Given the description of an element on the screen output the (x, y) to click on. 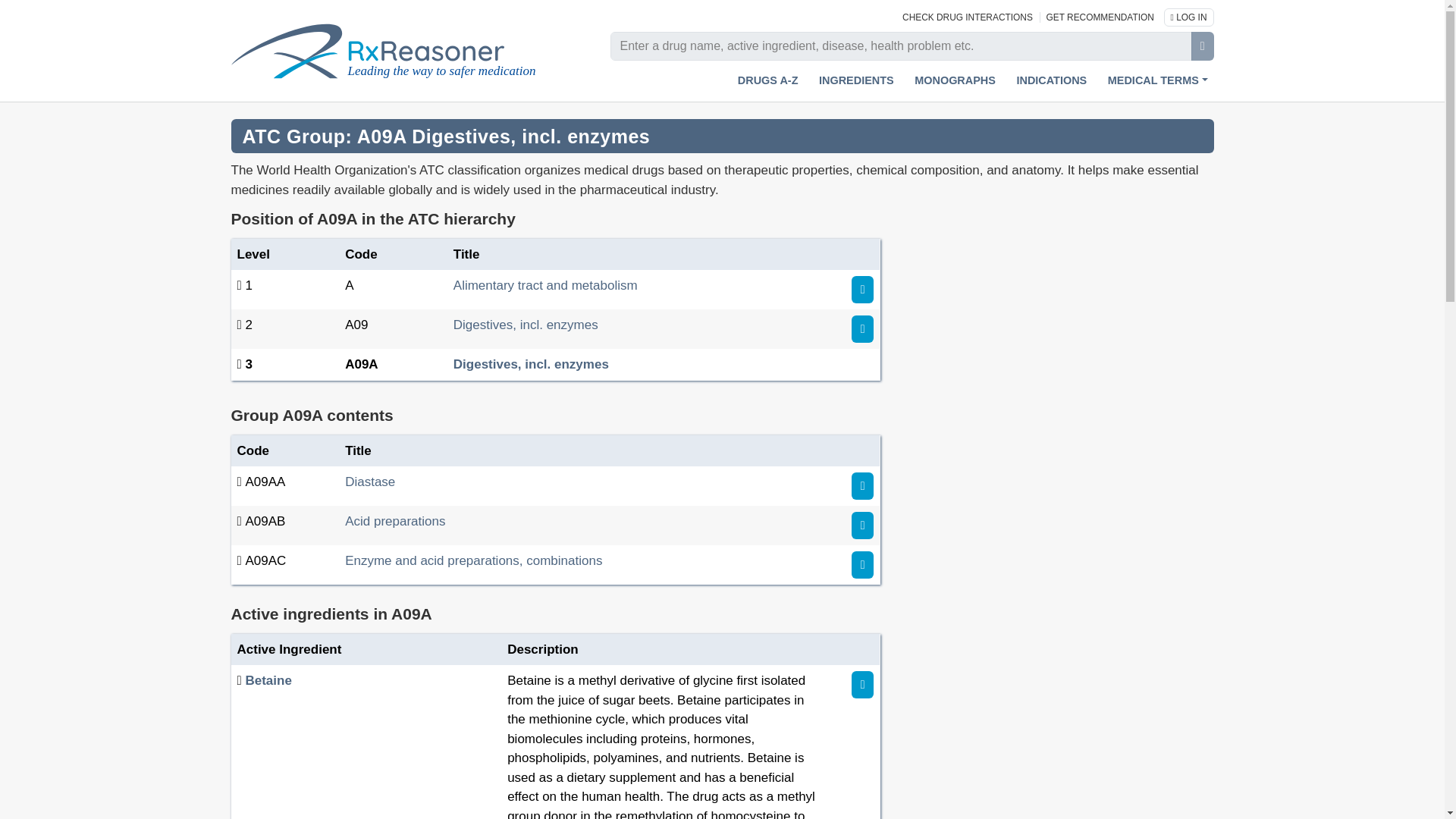
Acid preparations (395, 521)
GET RECOMMENDATION (1099, 17)
Enzyme and acid preparations, combinations (473, 560)
CHECK DRUG INTERACTIONS (968, 17)
MEDICAL TERMS (1158, 80)
Digestives, incl. enzymes (530, 364)
Diastase (369, 481)
INDICATIONS (1051, 80)
Digestives, incl. enzymes (525, 324)
DRUGS A-Z (768, 80)
 LOG IN (1188, 16)
INGREDIENTS (855, 80)
Leading the way to safer medication (393, 50)
Betaine (267, 680)
Alimentary tract and metabolism (544, 285)
